Given the description of an element on the screen output the (x, y) to click on. 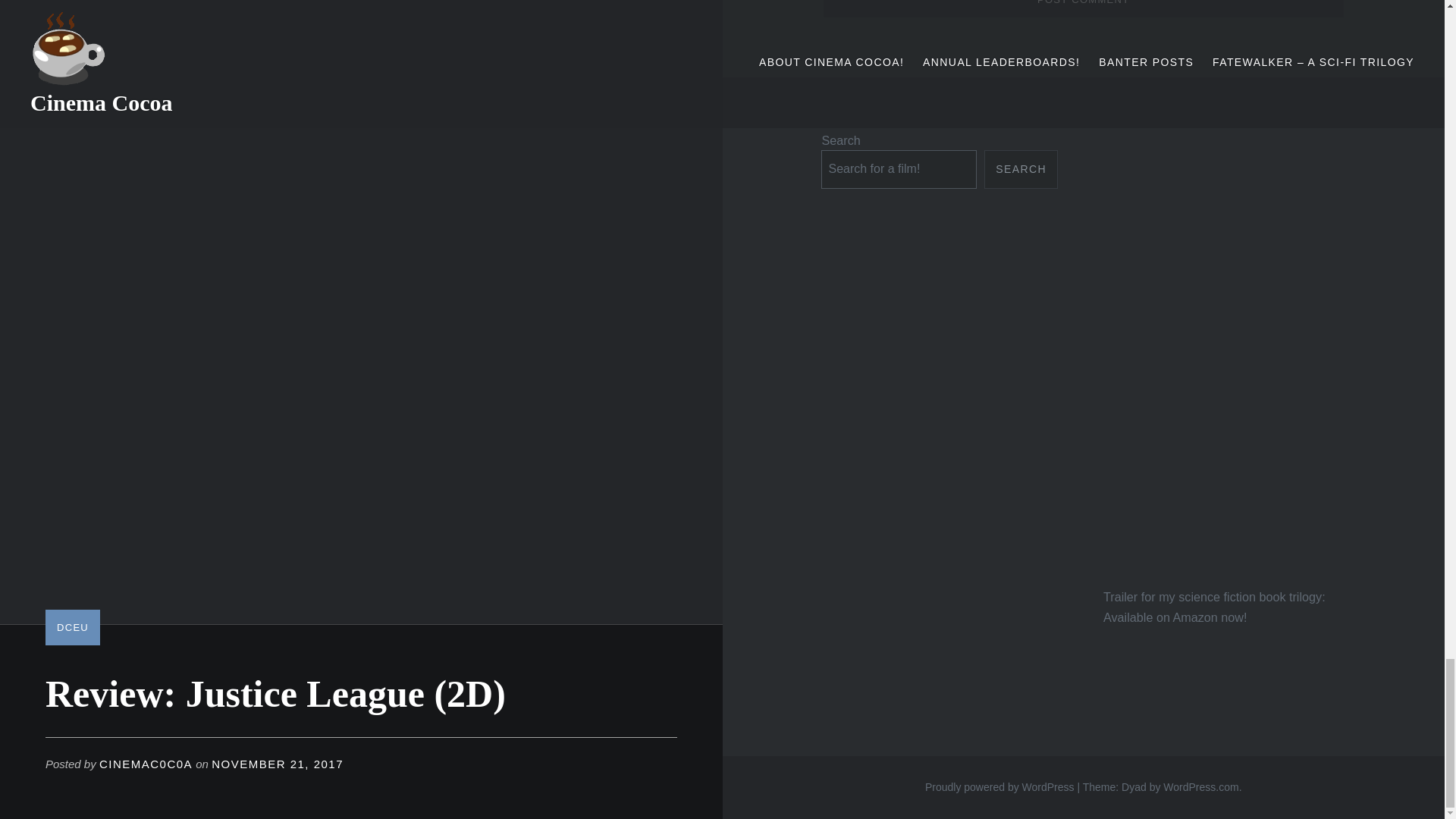
Post Comment (1083, 8)
WordPress.com (1201, 787)
Proudly powered by WordPress (999, 787)
Post Comment (1083, 8)
SEARCH (1021, 169)
